Given the description of an element on the screen output the (x, y) to click on. 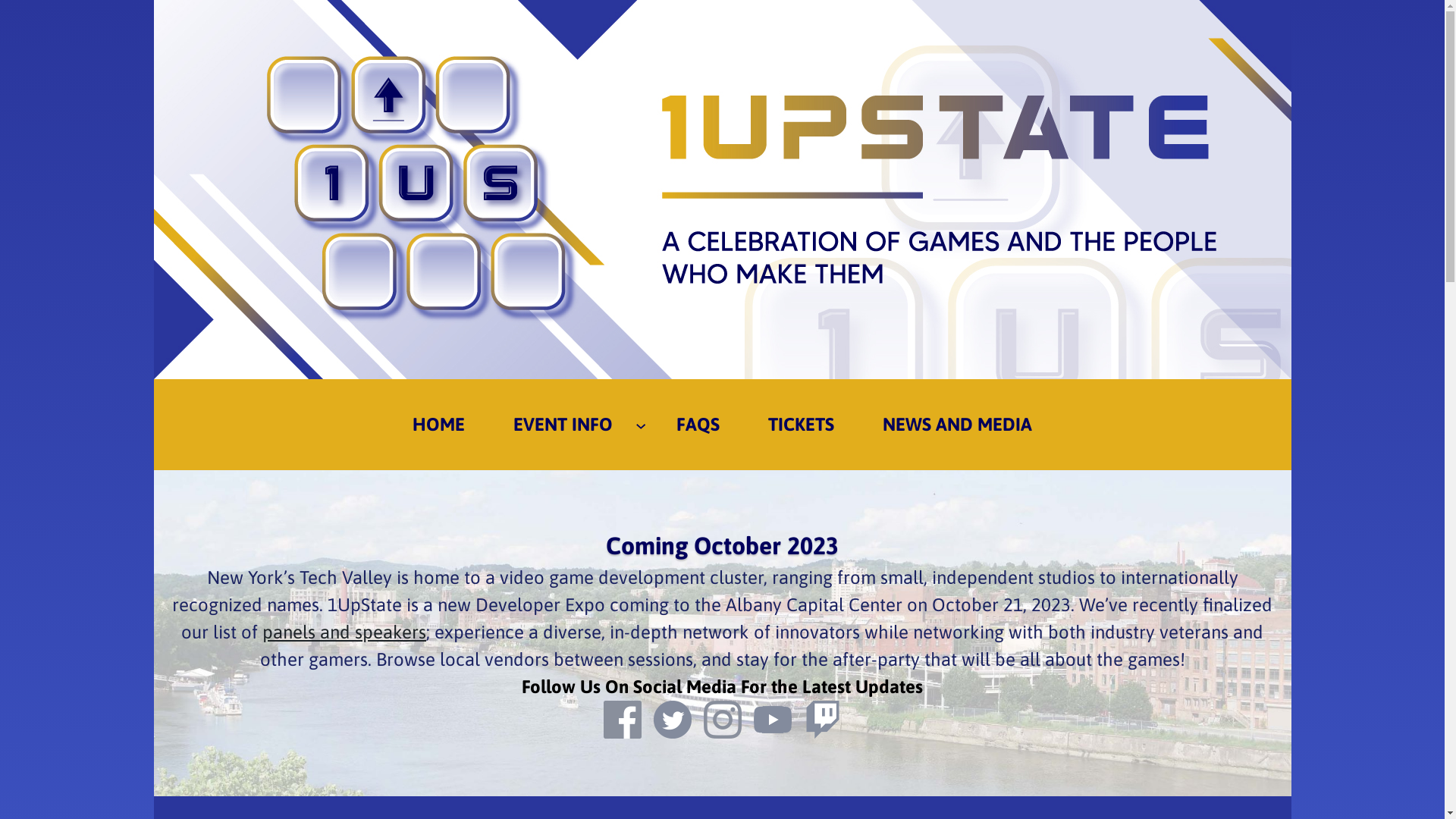
panels and speakers Element type: text (344, 631)
NEWS AND MEDIA Element type: text (957, 424)
FAQS Element type: text (697, 424)
EVENT INFO Element type: text (562, 424)
HOME Element type: text (438, 424)
TICKETS Element type: text (800, 424)
